Given the description of an element on the screen output the (x, y) to click on. 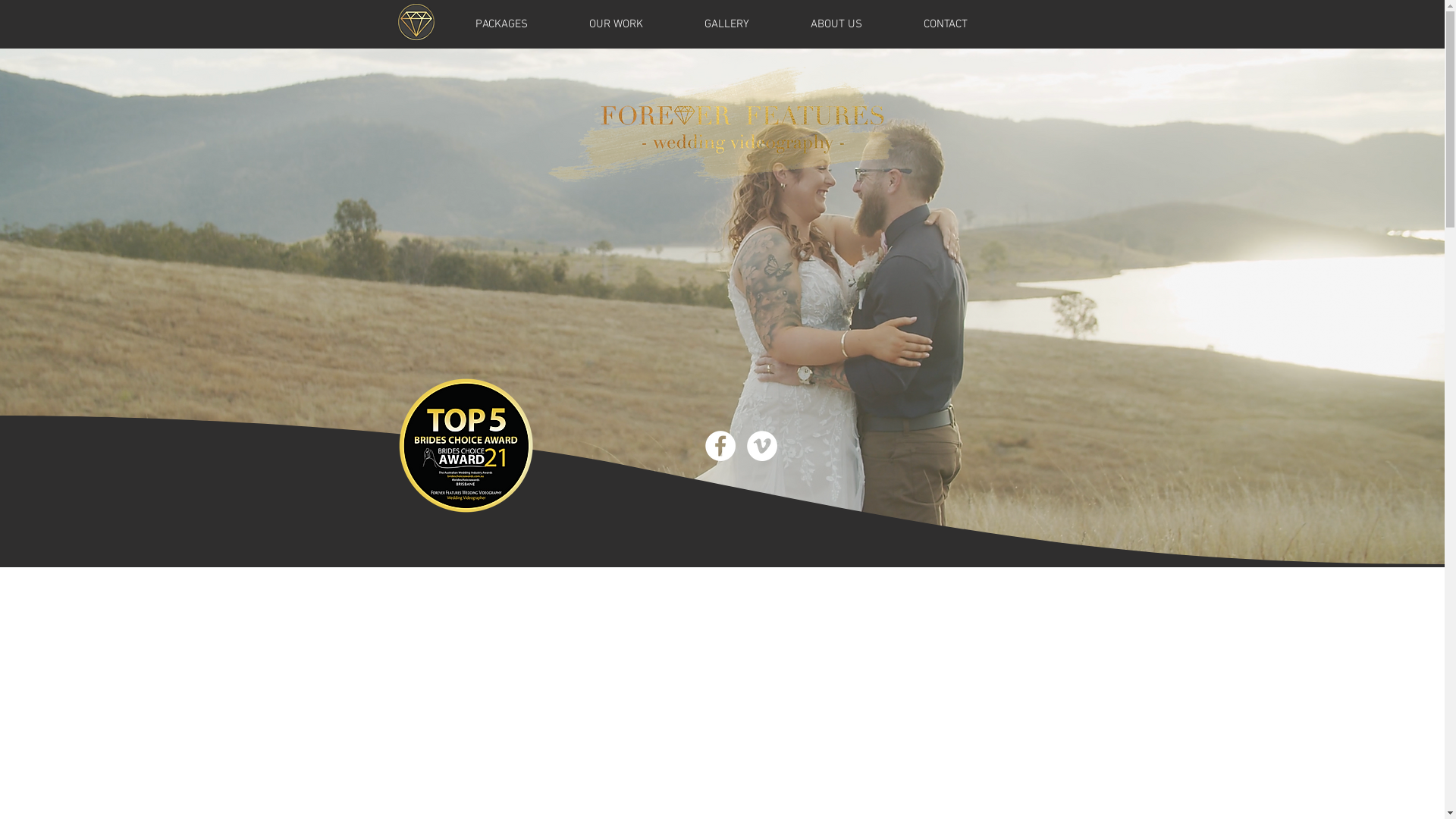
CONTACT Element type: text (945, 24)
Forever Features Logo Element type: hover (735, 131)
PACKAGES Element type: text (501, 24)
GALLERY Element type: text (726, 24)
OUR WORK Element type: text (615, 24)
ABOUT US Element type: text (835, 24)
